Given the description of an element on the screen output the (x, y) to click on. 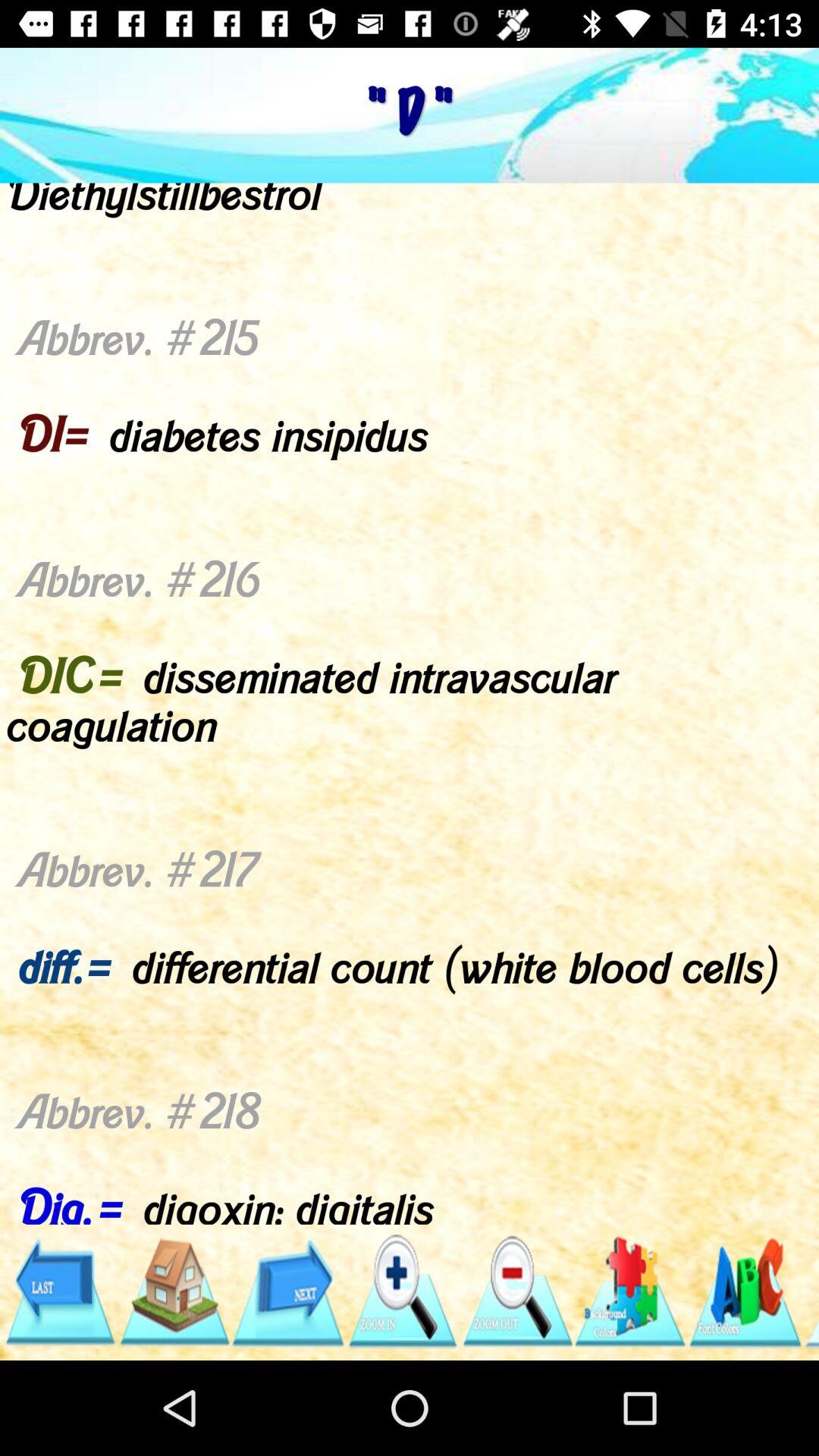
turn on app below abbrev 	209	 	d (287, 1291)
